Given the description of an element on the screen output the (x, y) to click on. 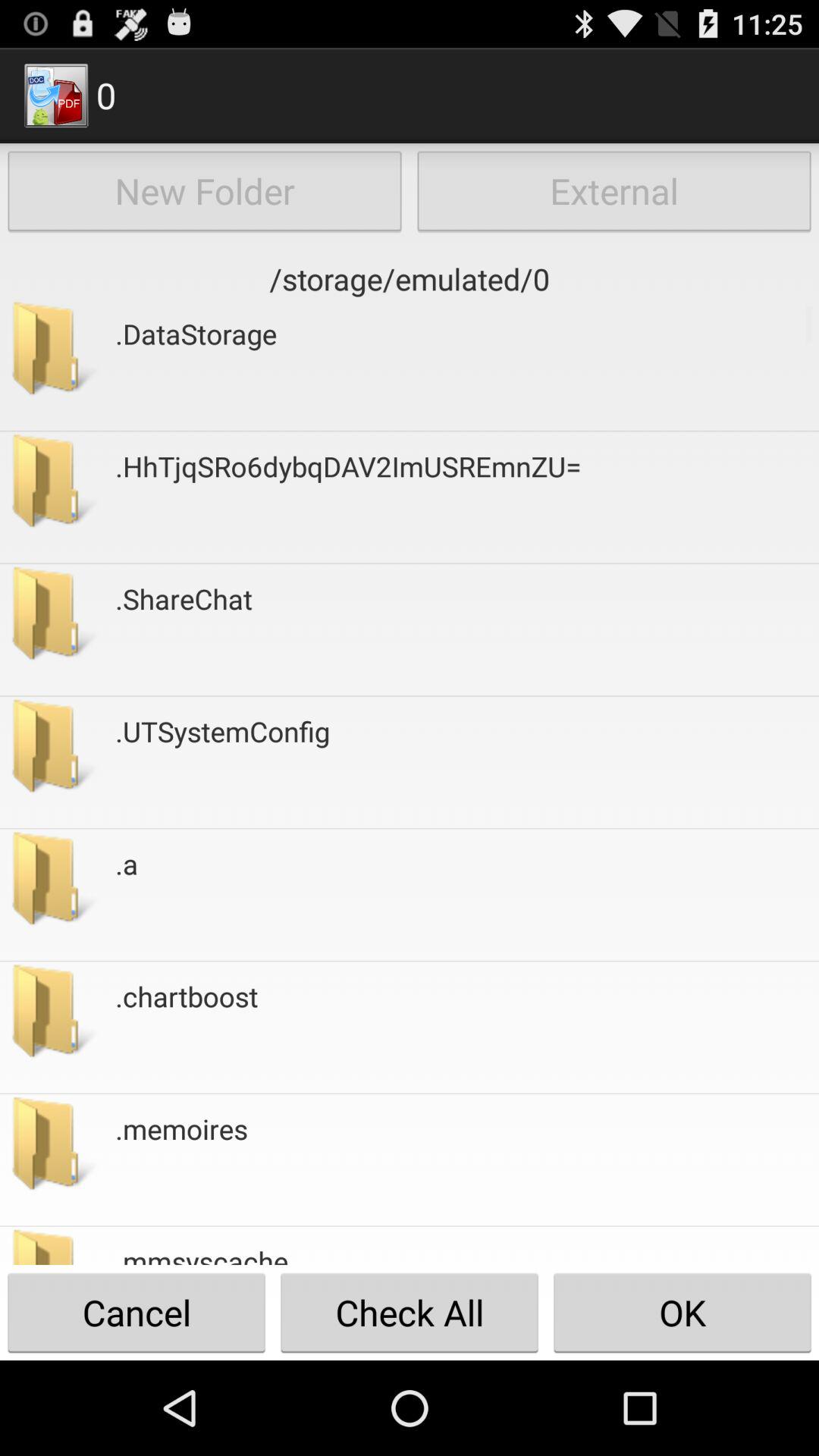
open .a (126, 894)
